Given the description of an element on the screen output the (x, y) to click on. 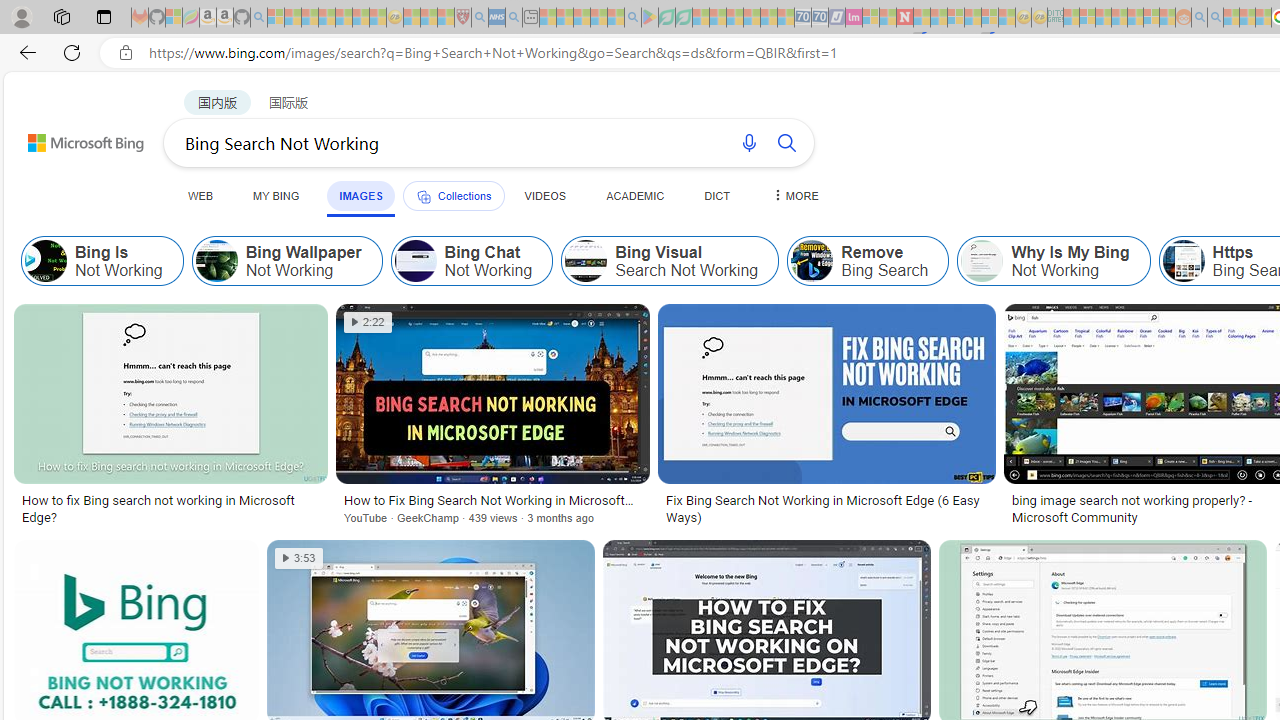
Bing Chat Not Working (471, 260)
MY BING (276, 195)
3:53 (299, 558)
ACADEMIC (635, 195)
Image result for Bing Search Not Working (826, 393)
